Given the description of an element on the screen output the (x, y) to click on. 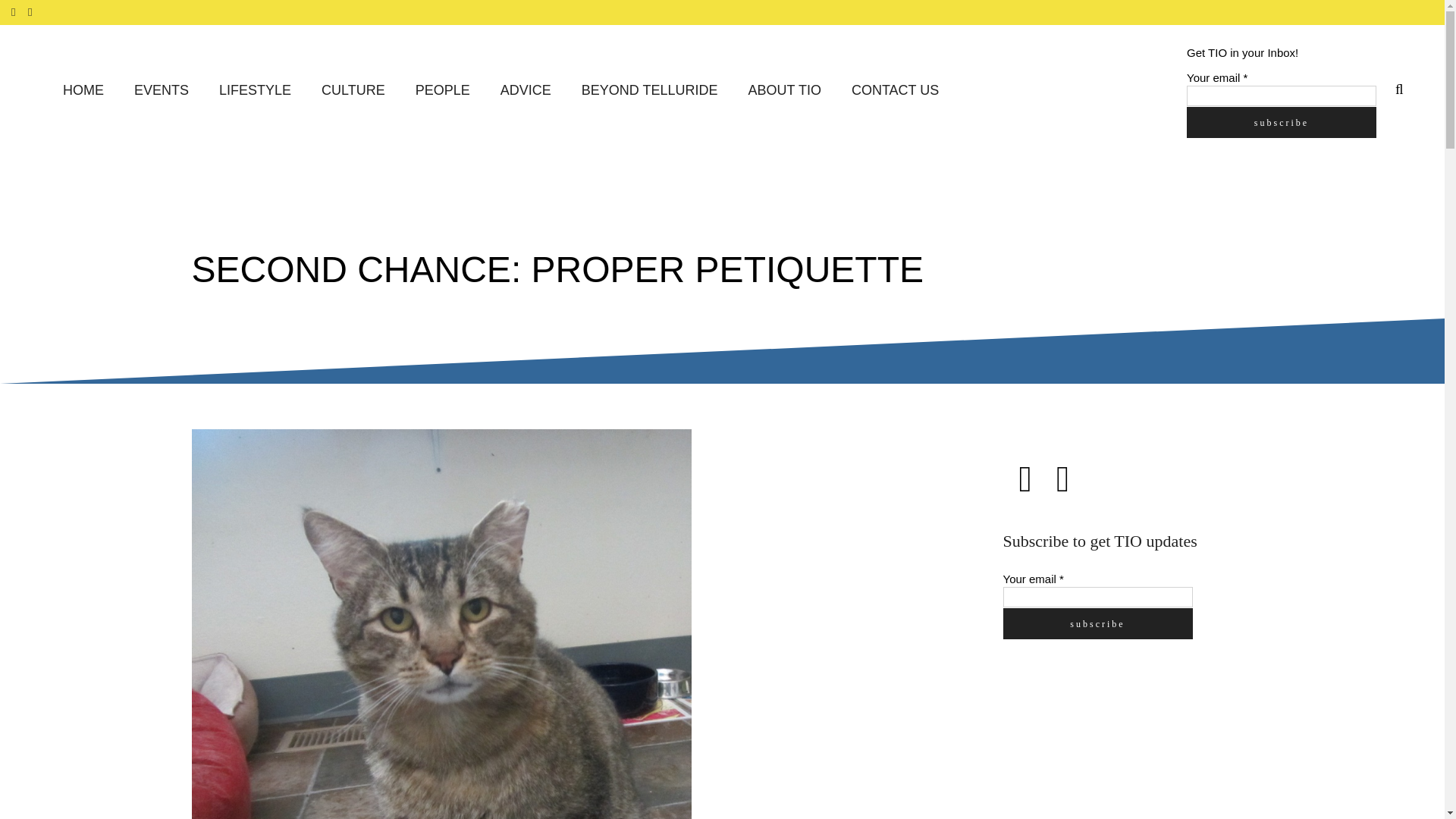
CONTACT US (894, 90)
BEYOND TELLURIDE (649, 90)
Your email (1097, 597)
Subscribe (1280, 121)
Your email (1280, 95)
Subscribe (1280, 121)
Subscribe (1097, 623)
